Given the description of an element on the screen output the (x, y) to click on. 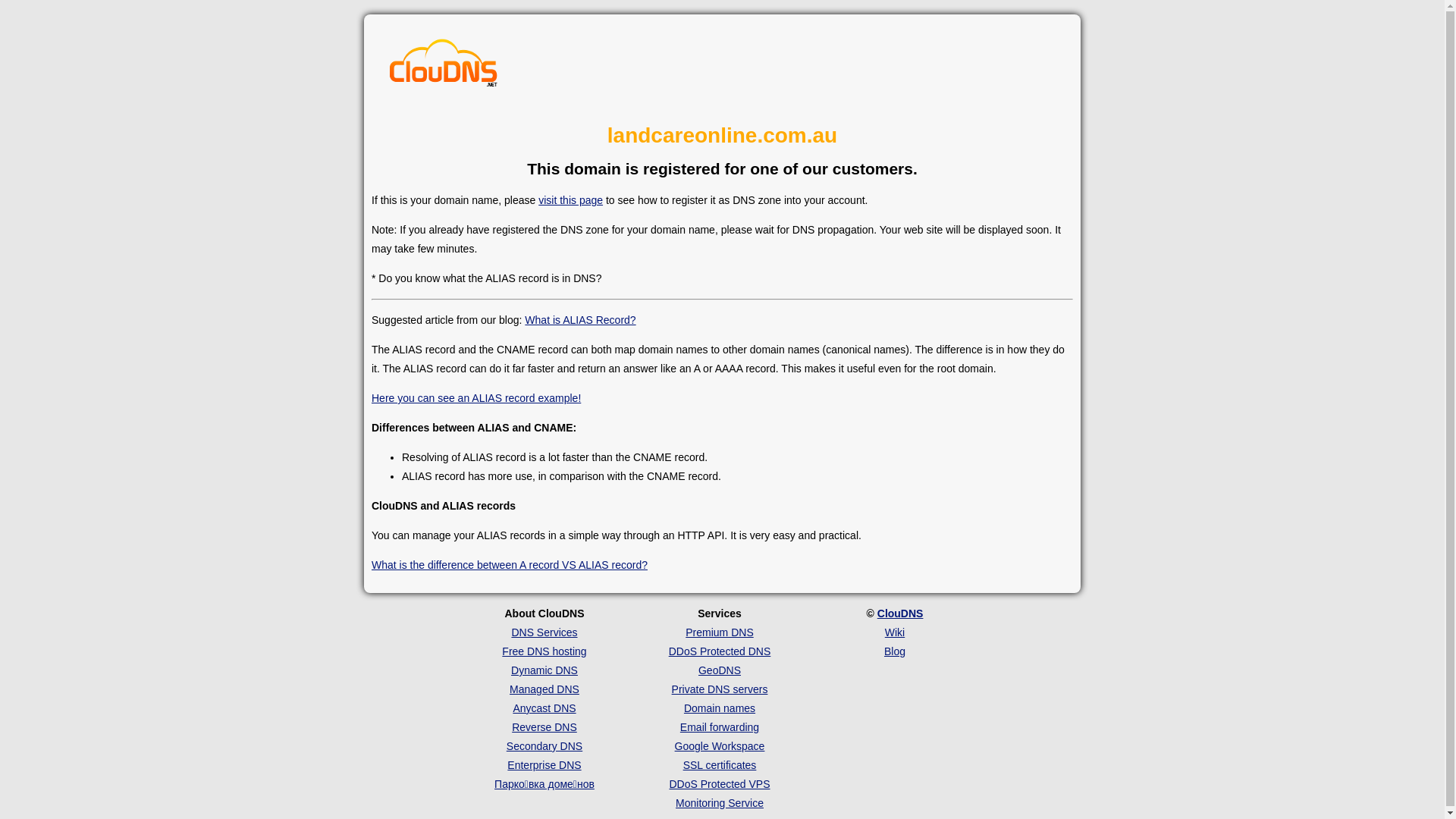
Free DNS hosting Element type: text (544, 651)
ClouDNS Element type: text (900, 613)
Google Workspace Element type: text (719, 746)
Dynamic DNS Element type: text (544, 670)
Anycast DNS Element type: text (543, 708)
Reverse DNS Element type: text (544, 727)
DDoS Protected VPS Element type: text (718, 784)
DDoS Protected DNS Element type: text (719, 651)
Private DNS servers Element type: text (719, 689)
Secondary DNS Element type: text (544, 746)
Domain names Element type: text (719, 708)
DNS Services Element type: text (544, 632)
Blog Element type: text (894, 651)
Premium DNS Element type: text (719, 632)
Here you can see an ALIAS record example! Element type: text (475, 398)
Enterprise DNS Element type: text (543, 765)
GeoDNS Element type: text (719, 670)
What is the difference between A record VS ALIAS record? Element type: text (509, 564)
Email forwarding Element type: text (719, 727)
Managed DNS Element type: text (544, 689)
What is ALIAS Record? Element type: text (579, 319)
Monitoring Service Element type: text (719, 803)
SSL certificates Element type: text (719, 765)
Wiki Element type: text (894, 632)
Cloud DNS Element type: hover (443, 66)
visit this page Element type: text (570, 200)
